Given the description of an element on the screen output the (x, y) to click on. 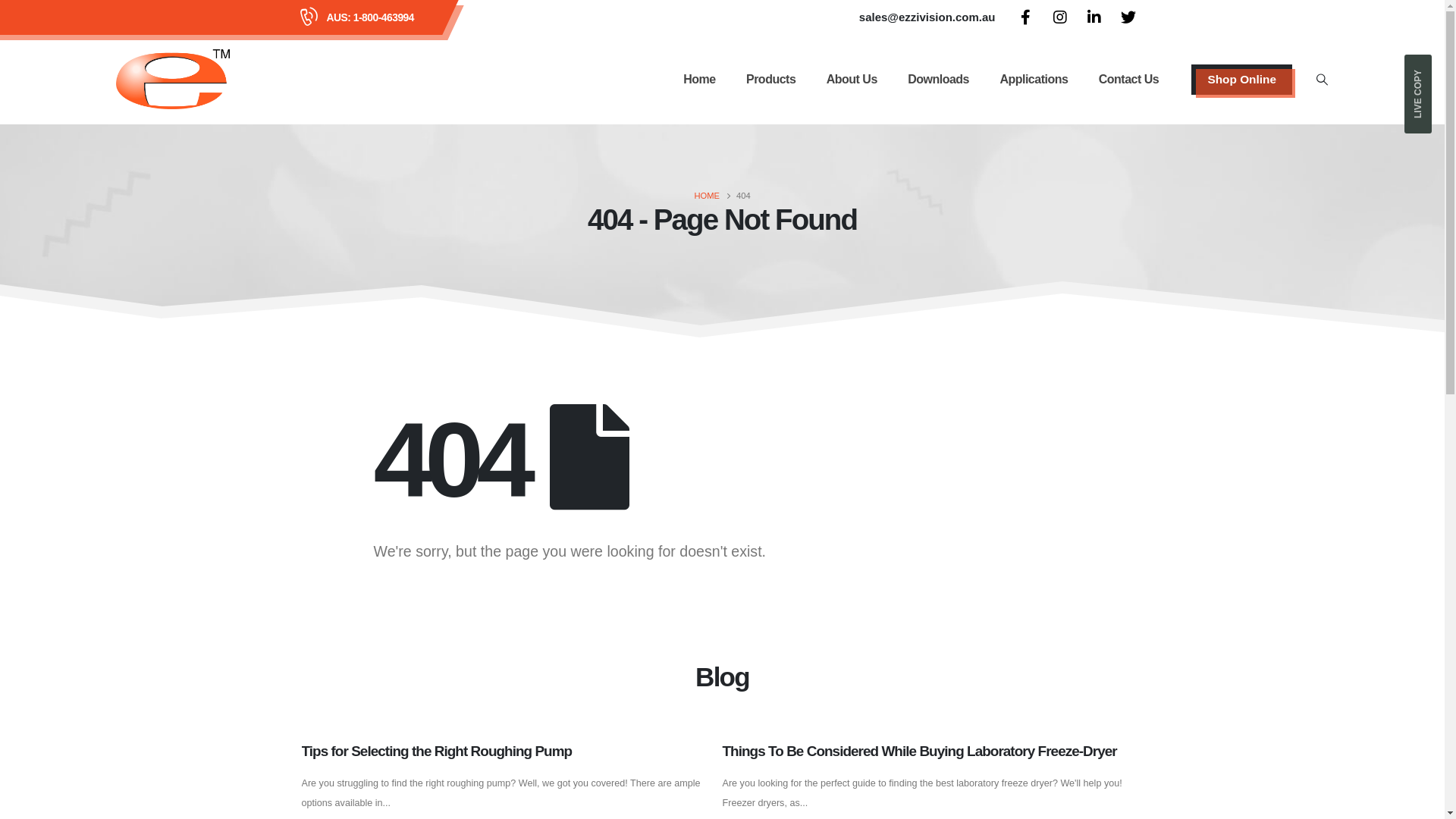
Products Element type: text (770, 78)
Contact Us Element type: text (1128, 78)
Shop Online Element type: text (1241, 78)
Home Element type: text (699, 78)
HOME Element type: text (706, 195)
AUS: 1-800-463994 Element type: text (370, 17)
Applications Element type: text (1033, 78)
sales@ezzivision.com.au Element type: text (927, 16)
Downloads Element type: text (938, 78)
About Us Element type: text (851, 78)
Tips for Selecting the Right Roughing Pump Element type: text (436, 751)
Things To Be Considered While Buying Laboratory Freeze-Dryer Element type: text (918, 751)
